Given the description of an element on the screen output the (x, y) to click on. 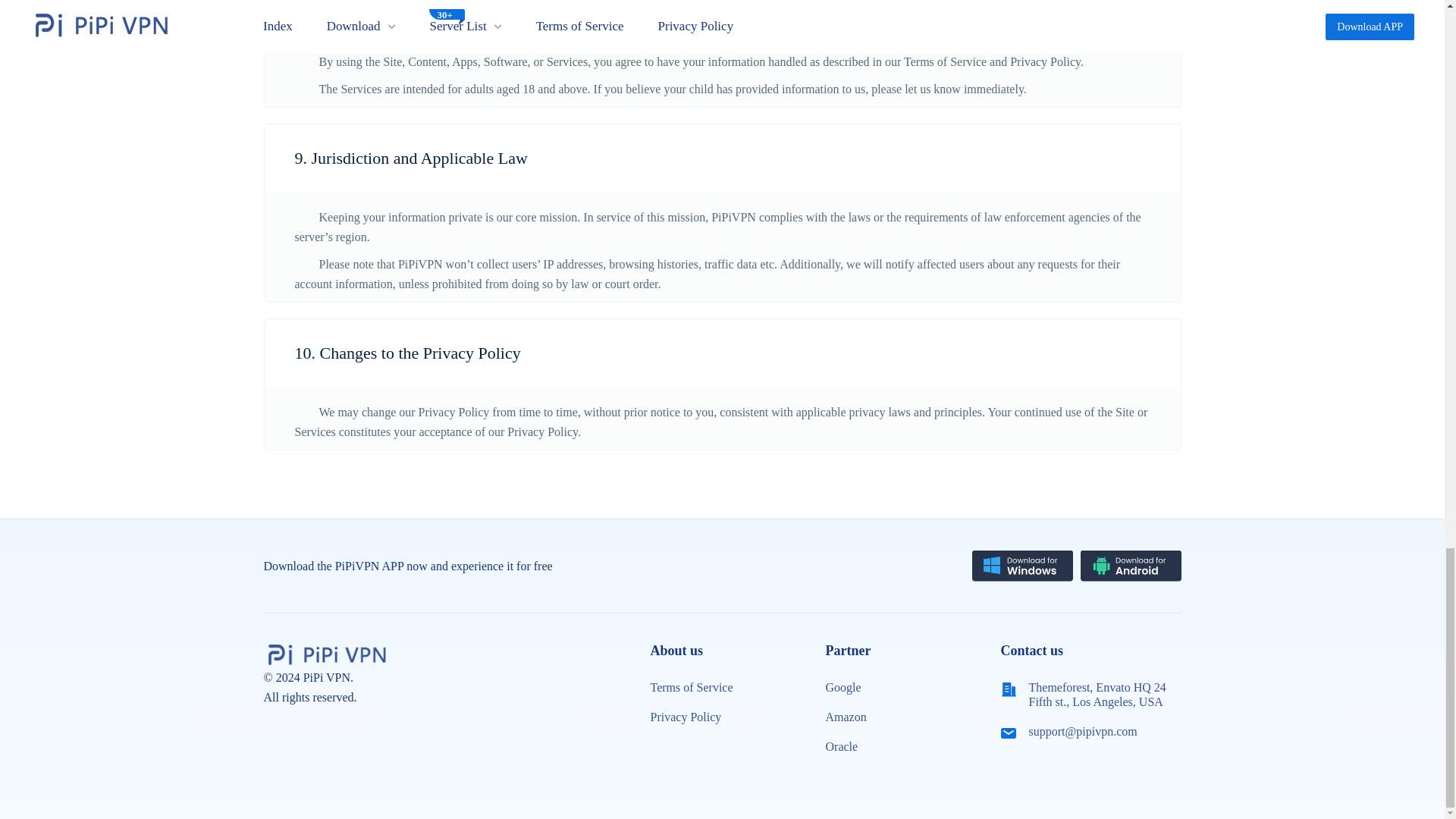
Google (842, 687)
Amazon (845, 716)
Privacy Policy (686, 716)
Oracle (841, 746)
Themeforest, Envato HQ 24 Fifth st., Los Angeles, USA (1100, 694)
Terms of Service (691, 687)
